Given the description of an element on the screen output the (x, y) to click on. 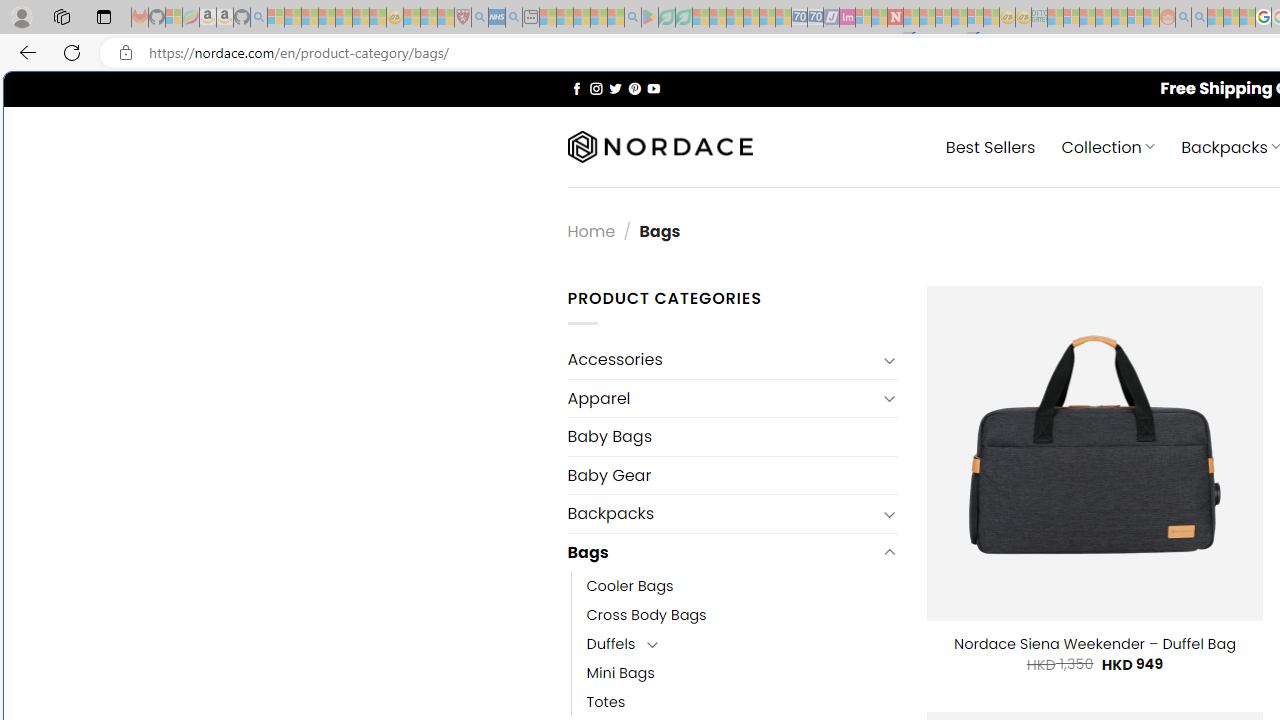
 Best Sellers (989, 146)
Cooler Bags (630, 585)
Mini Bags (742, 673)
Totes (605, 701)
Follow on Twitter (615, 88)
